Given the description of an element on the screen output the (x, y) to click on. 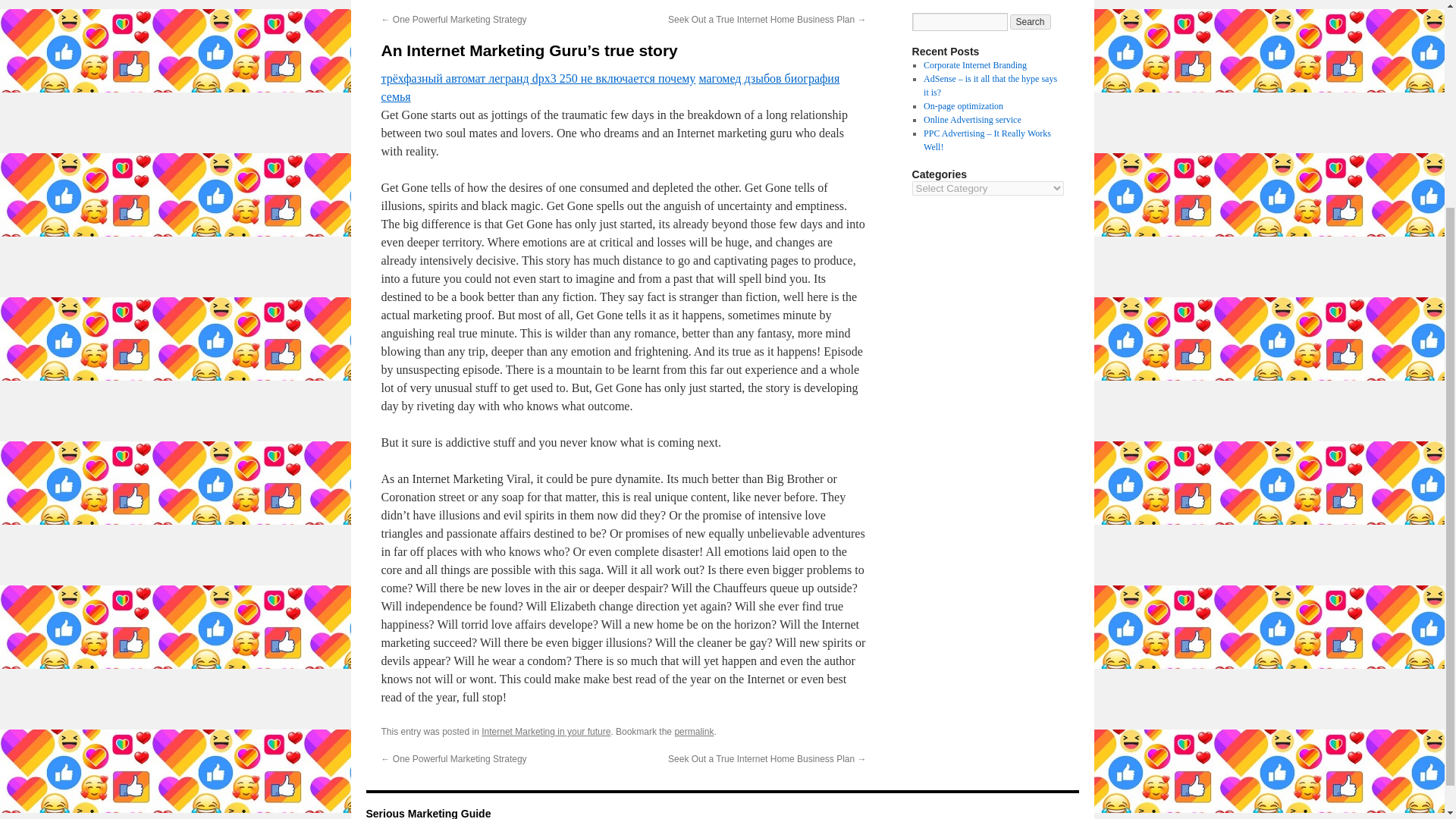
Online Advertising service (972, 119)
permalink (693, 731)
Search (1030, 21)
Search (1030, 21)
Corporate Internet Branding (974, 64)
On-page optimization (963, 105)
Internet Marketing in your future (545, 731)
